Given the description of an element on the screen output the (x, y) to click on. 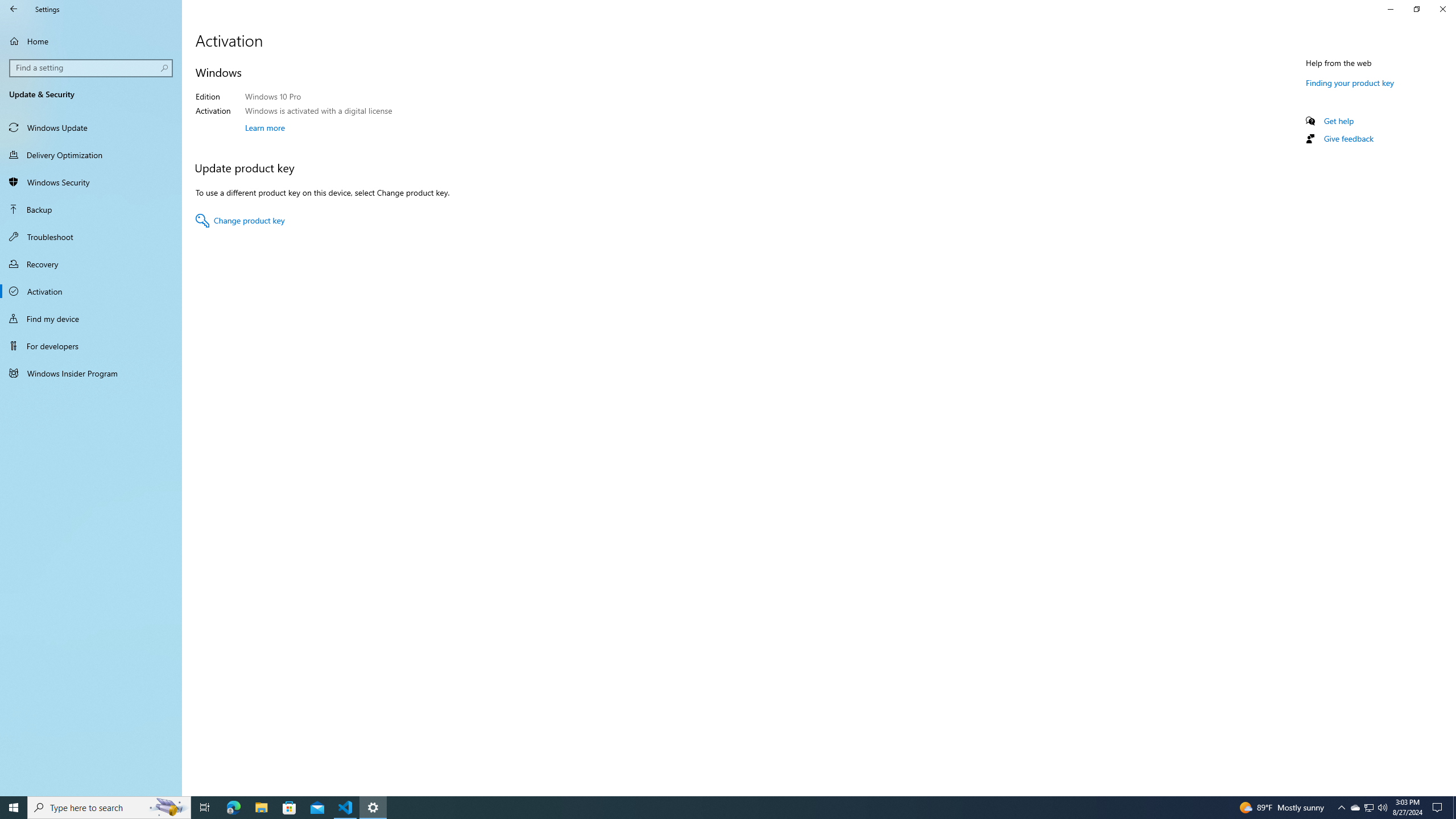
Activation (91, 290)
Get help (1338, 120)
User Promoted Notification Area (1368, 807)
Troubleshoot (91, 236)
Microsoft Store (289, 807)
Minimize Settings (1390, 9)
Settings - 1 running window (373, 807)
Start (13, 807)
Recovery (91, 263)
Search box, Find a setting (91, 67)
Learn more about Windows activation (264, 127)
Windows Update (91, 126)
For developers (91, 345)
Search highlights icon opens search home window (1368, 807)
